Given the description of an element on the screen output the (x, y) to click on. 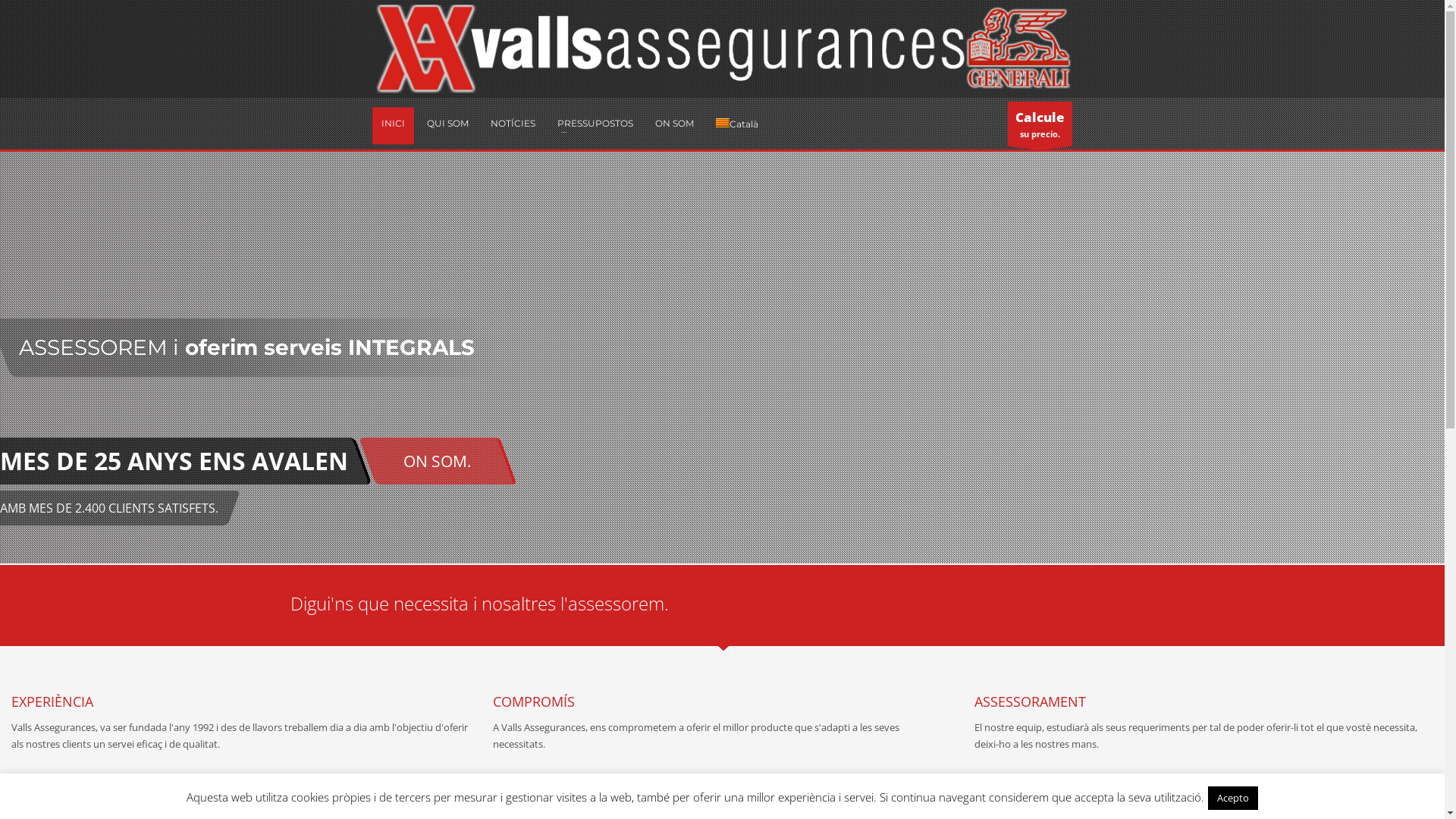
PRESSUPOSTOS Element type: text (595, 123)
INICI Element type: text (393, 123)
QUI SOM Element type: text (447, 123)
Acepto Element type: text (1233, 797)
ON SOM. Element type: text (437, 460)
Valls Assegurances Element type: hover (722, 49)
Calcule
su precio. Element type: text (1039, 123)
ON SOM Element type: text (674, 123)
